Given the description of an element on the screen output the (x, y) to click on. 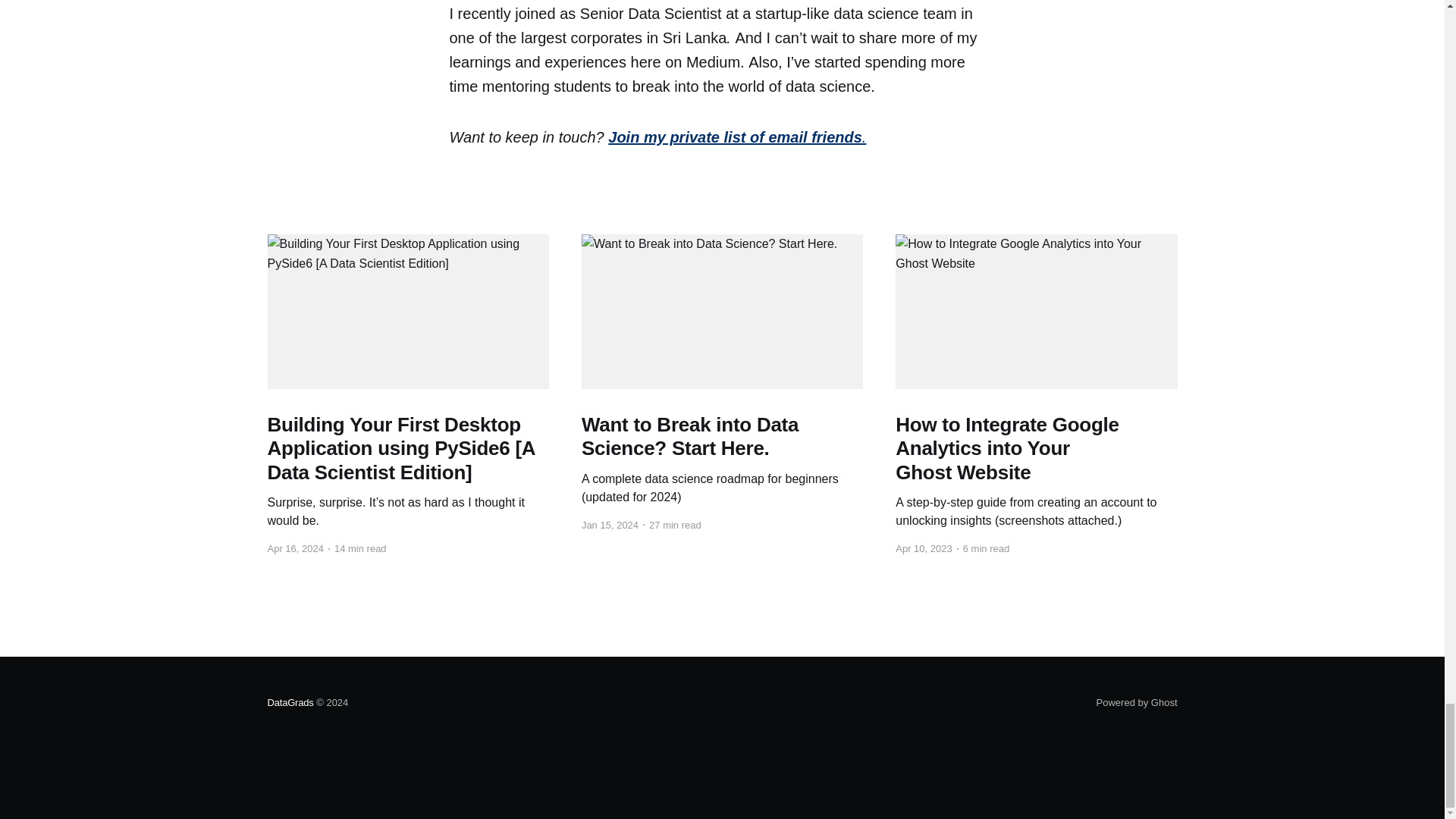
Powered by Ghost (1136, 702)
Join my private list of email friends. (737, 136)
DataGrads (289, 702)
